Given the description of an element on the screen output the (x, y) to click on. 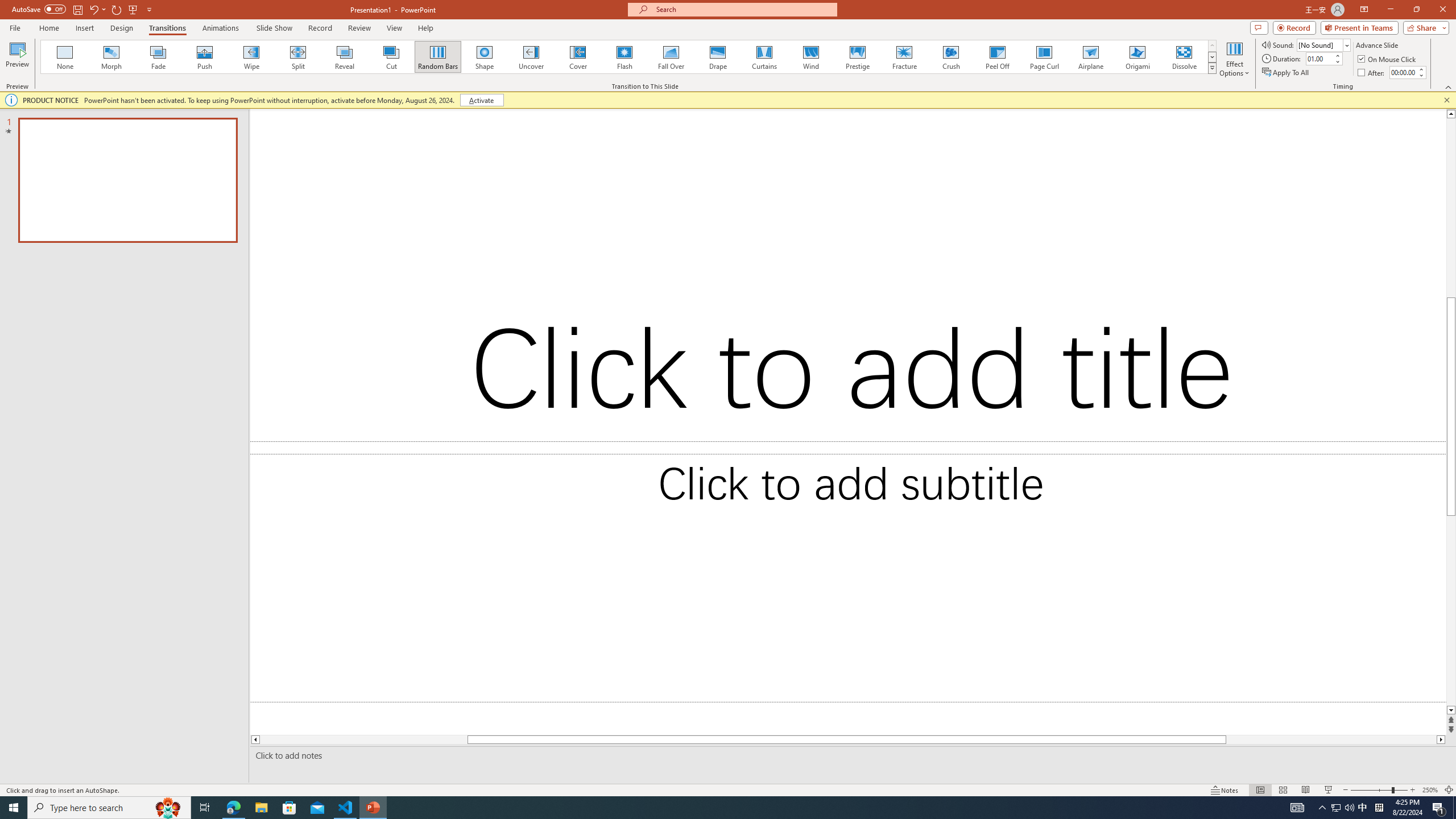
Duration (1319, 58)
Uncover (531, 56)
